Given the description of an element on the screen output the (x, y) to click on. 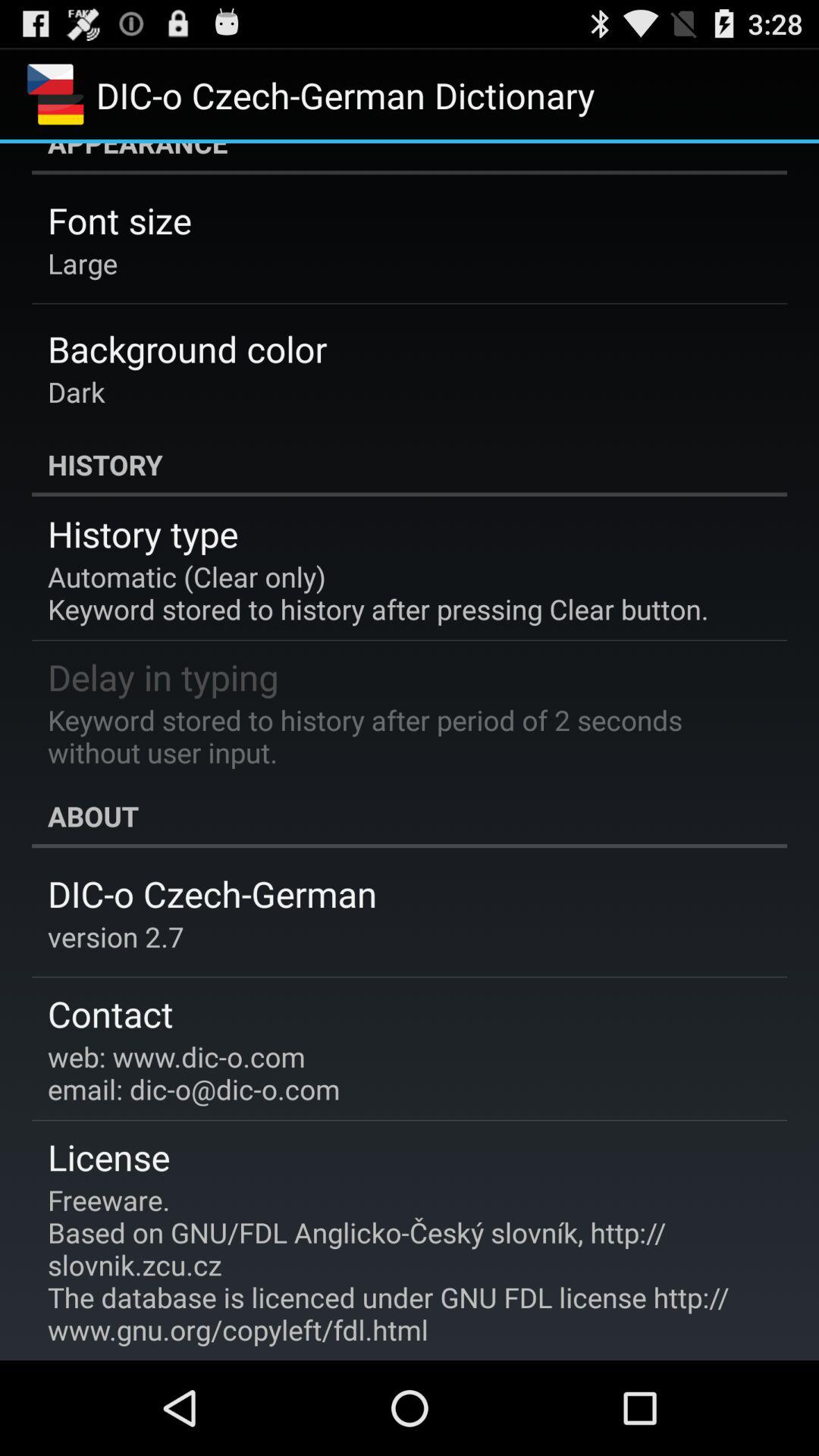
choose the app above dic o czech item (409, 816)
